Given the description of an element on the screen output the (x, y) to click on. 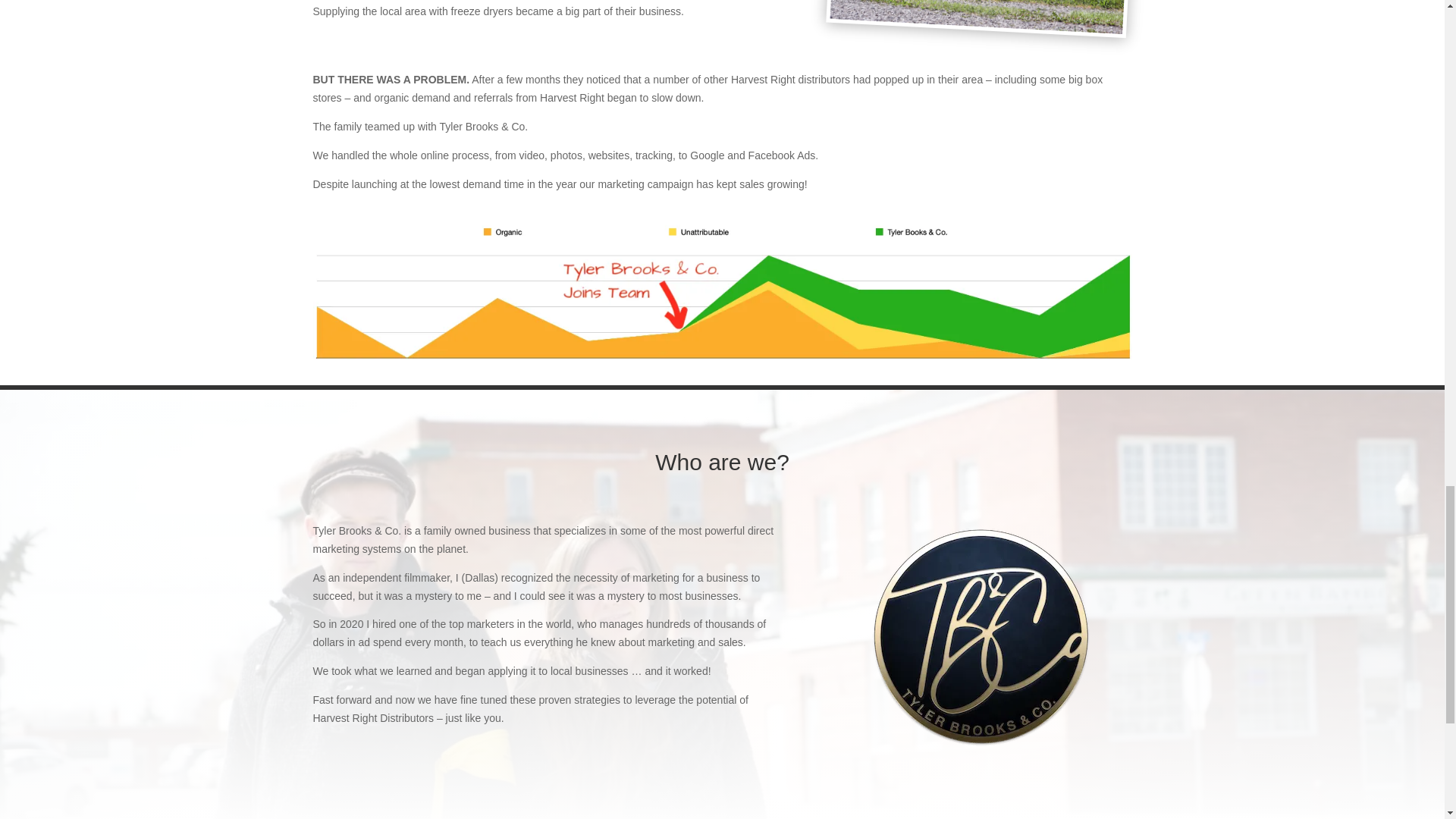
Screen Shot 2023-03-27 at 2.57.26 PM (722, 287)
Family-1.jpg (975, 9)
Photo Logo Monograph Glod Cool (980, 636)
